Given the description of an element on the screen output the (x, y) to click on. 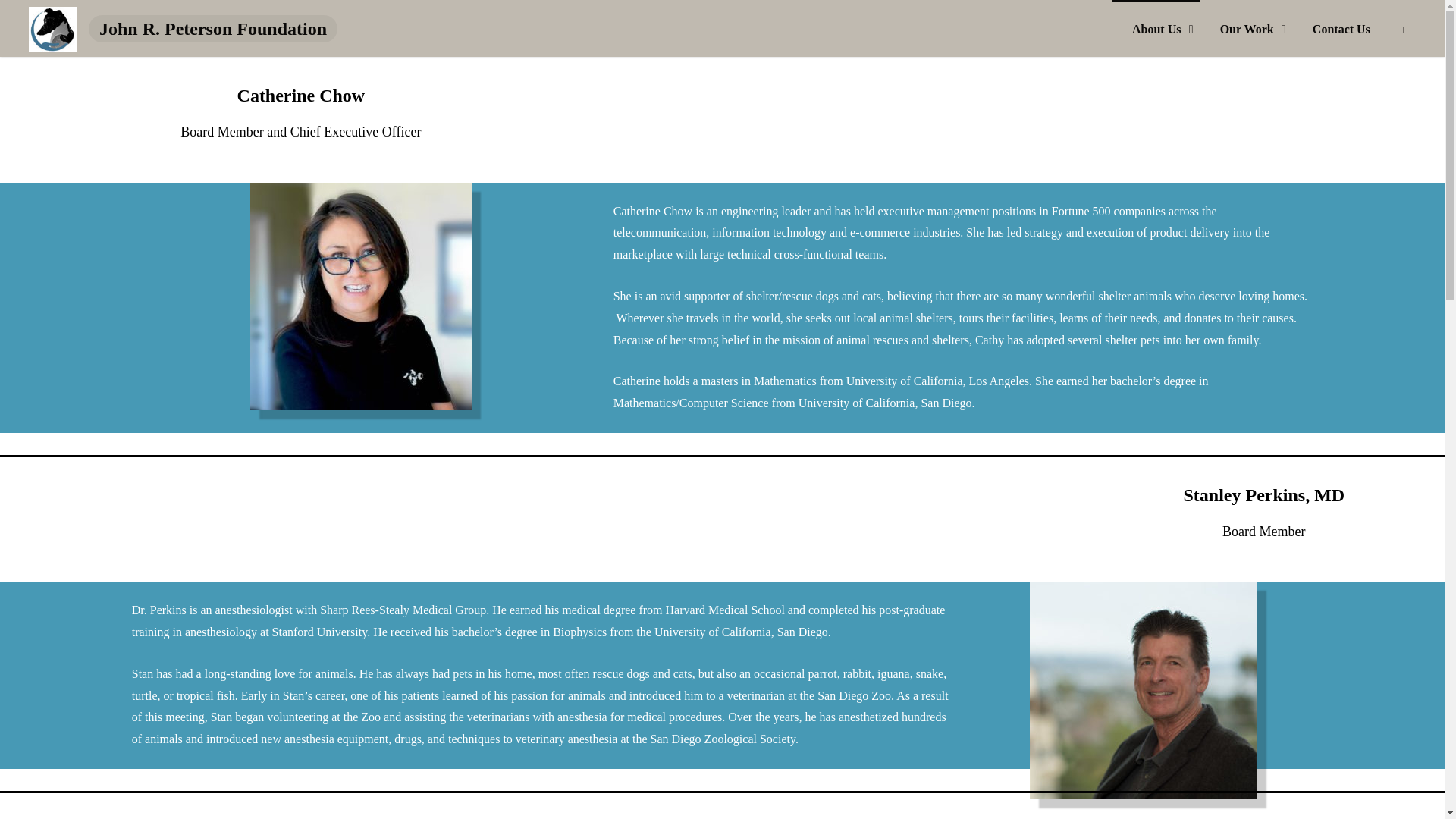
About Us (1155, 28)
Our Work (1245, 28)
Contact Us (1340, 28)
John R. Peterson Foundation (53, 28)
John R. Peterson Foundation (212, 28)
